Given the description of an element on the screen output the (x, y) to click on. 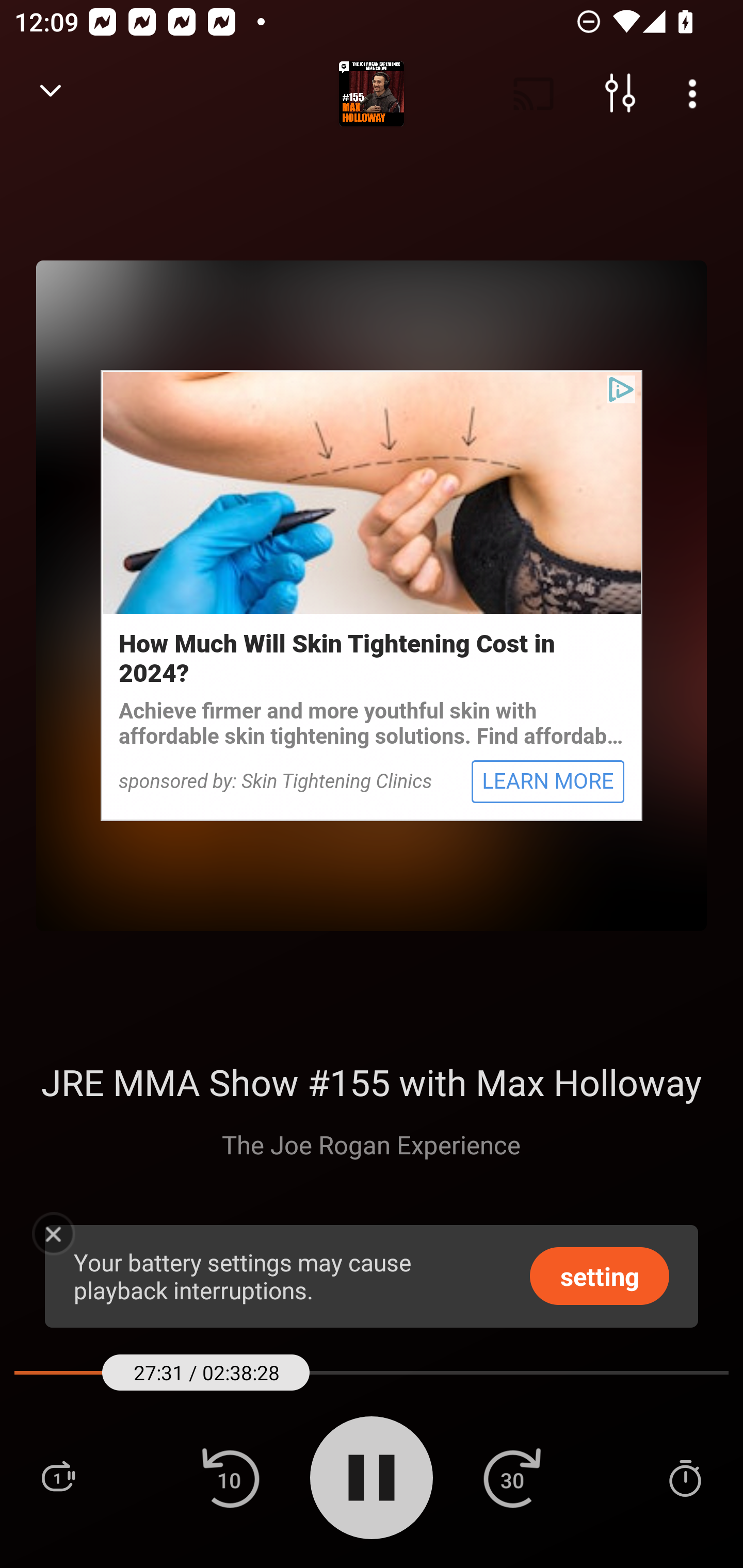
 Back (50, 94)
achoice (620, 388)
JRE MMA Show #155 with Max Holloway (370, 1081)
The Joe Rogan Experience (370, 1144)
setting (599, 1275)
 Playlist (57, 1477)
Sleep Timer  (684, 1477)
